Given the description of an element on the screen output the (x, y) to click on. 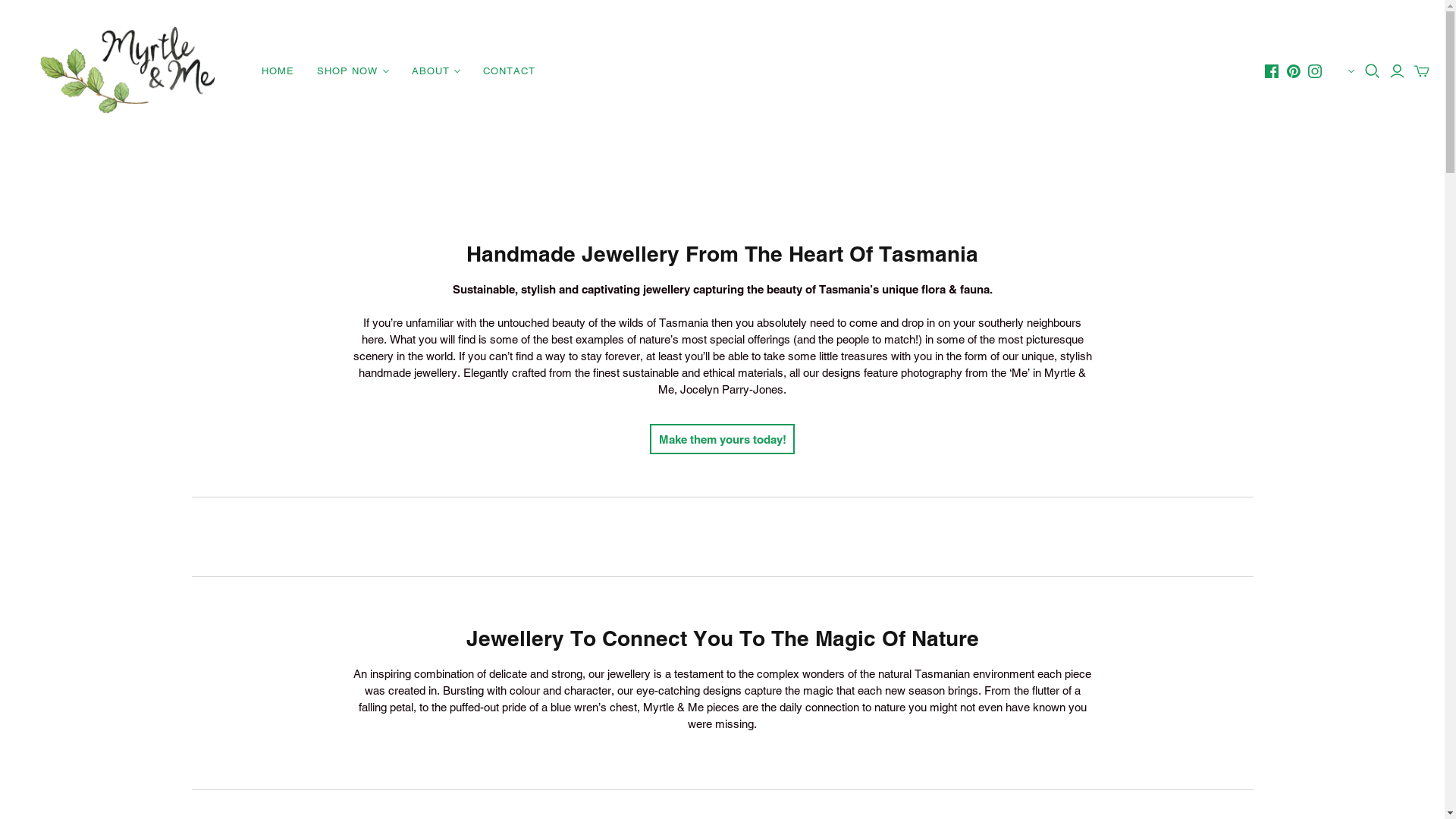
CONTACT Element type: text (508, 71)
SHOP NOW Element type: text (352, 71)
Make them yours today! Element type: text (722, 439)
HOME Element type: text (277, 71)
ABOUT Element type: text (435, 71)
